Given the description of an element on the screen output the (x, y) to click on. 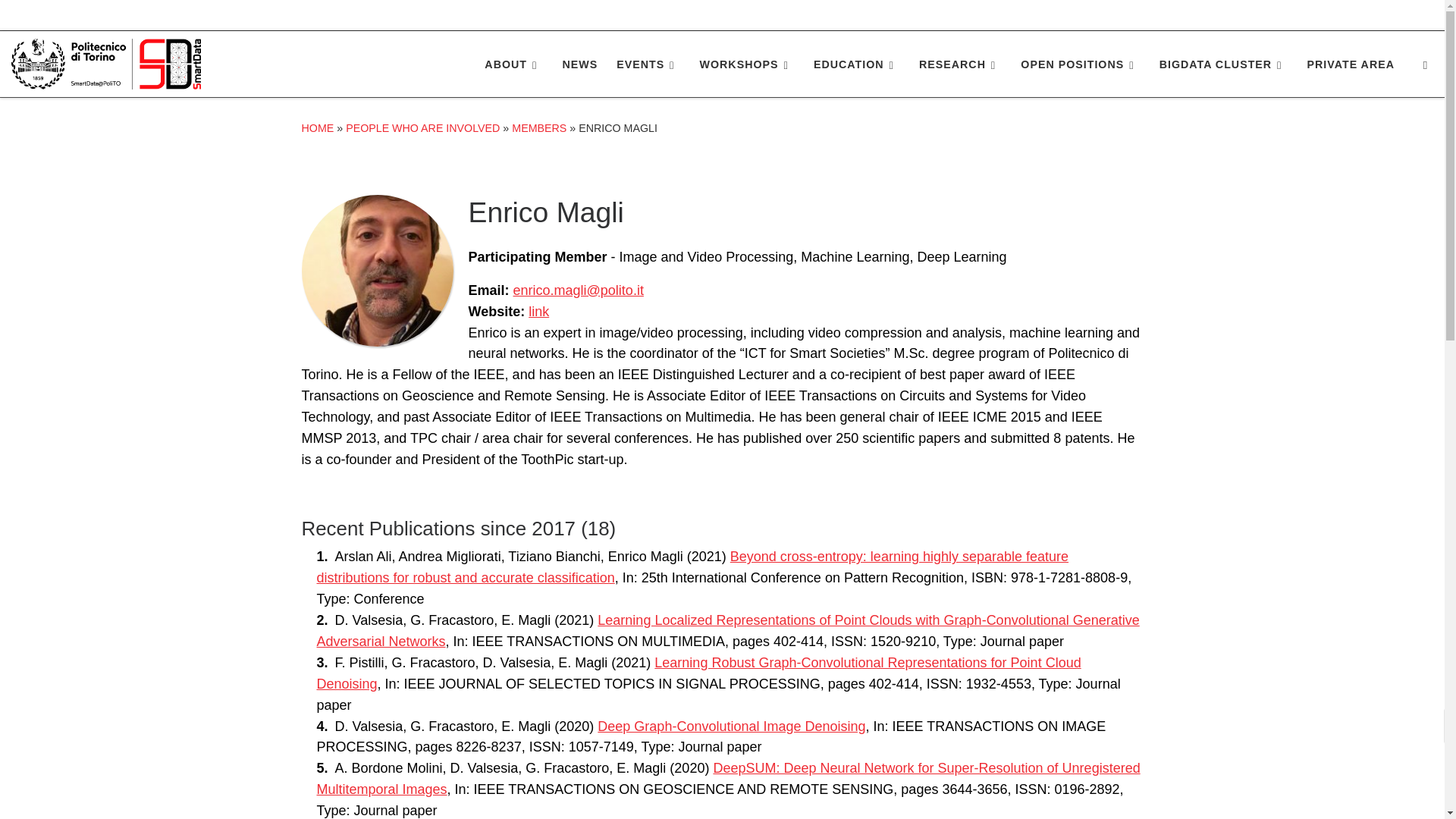
WORKSHOPS (746, 64)
EVENTS (648, 64)
People who are involved (422, 128)
ABOUT (514, 64)
RESEARCH (960, 64)
NEWS (579, 64)
Members (539, 128)
OPEN POSITIONS (1080, 64)
BIGDATA CLUSTER (1223, 64)
EDUCATION (857, 64)
Skip to content (60, 20)
